Given the description of an element on the screen output the (x, y) to click on. 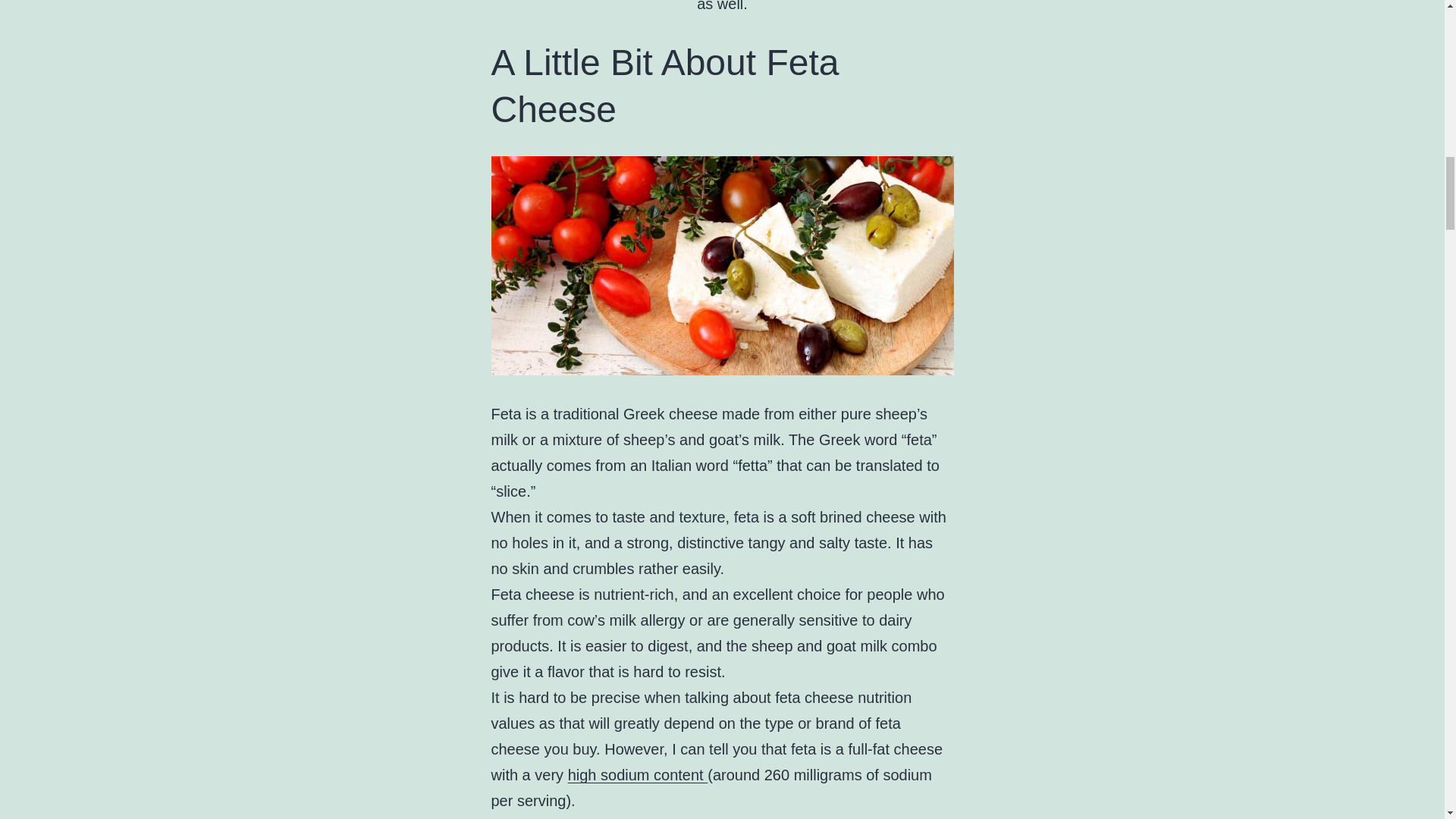
About-Feta-Cheese (722, 265)
high sodium content (637, 774)
